Given the description of an element on the screen output the (x, y) to click on. 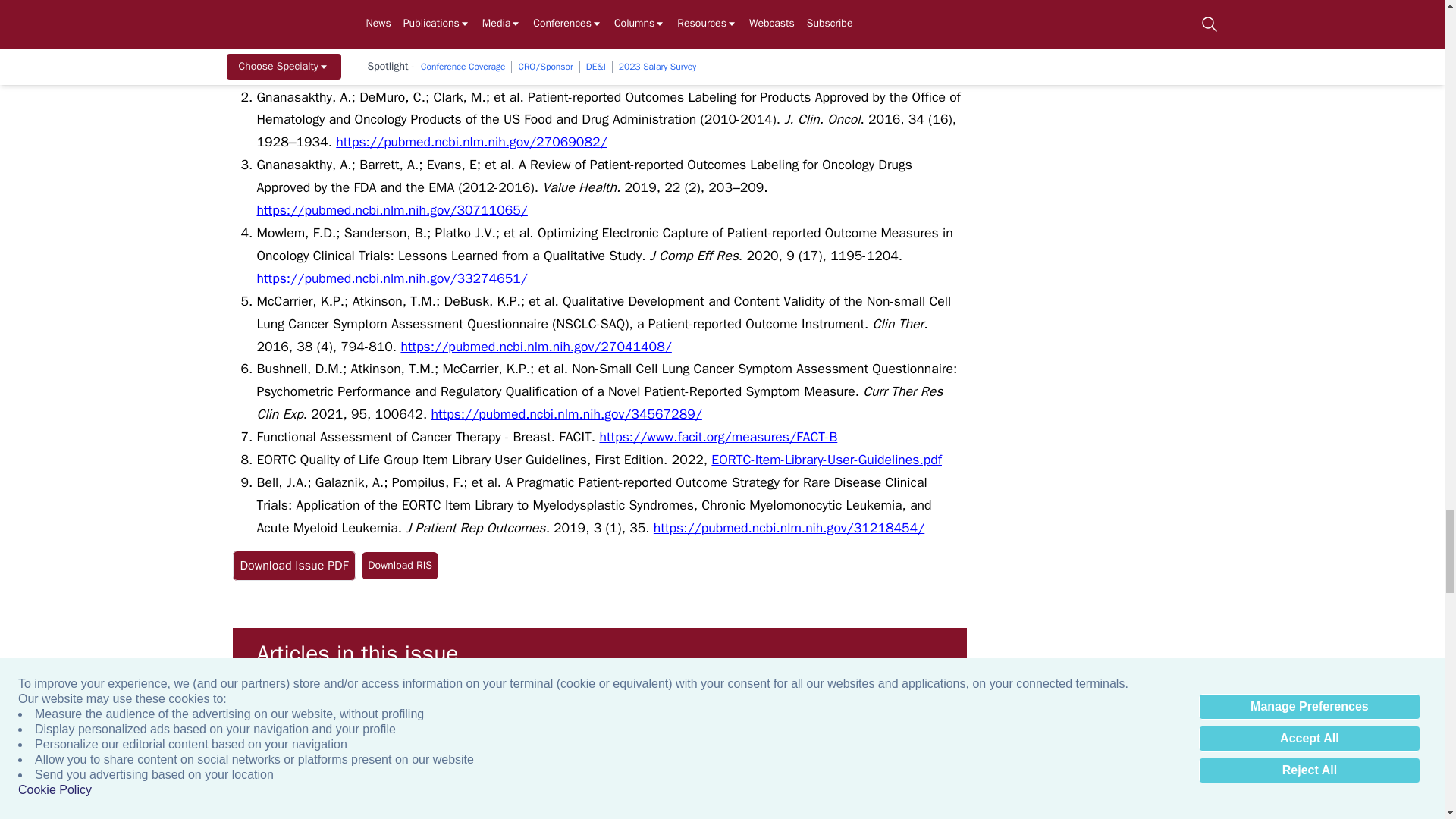
Implementing ePROs in Arthritis Clinical Research (732, 750)
Executive Roundtable: The Rise of RWD in Clinical Research (919, 750)
Modern Technology is Shaping the Face of COA (544, 750)
Optimal COA Measurement Strategy in Modern Oncology Trials (1108, 750)
